Given the description of an element on the screen output the (x, y) to click on. 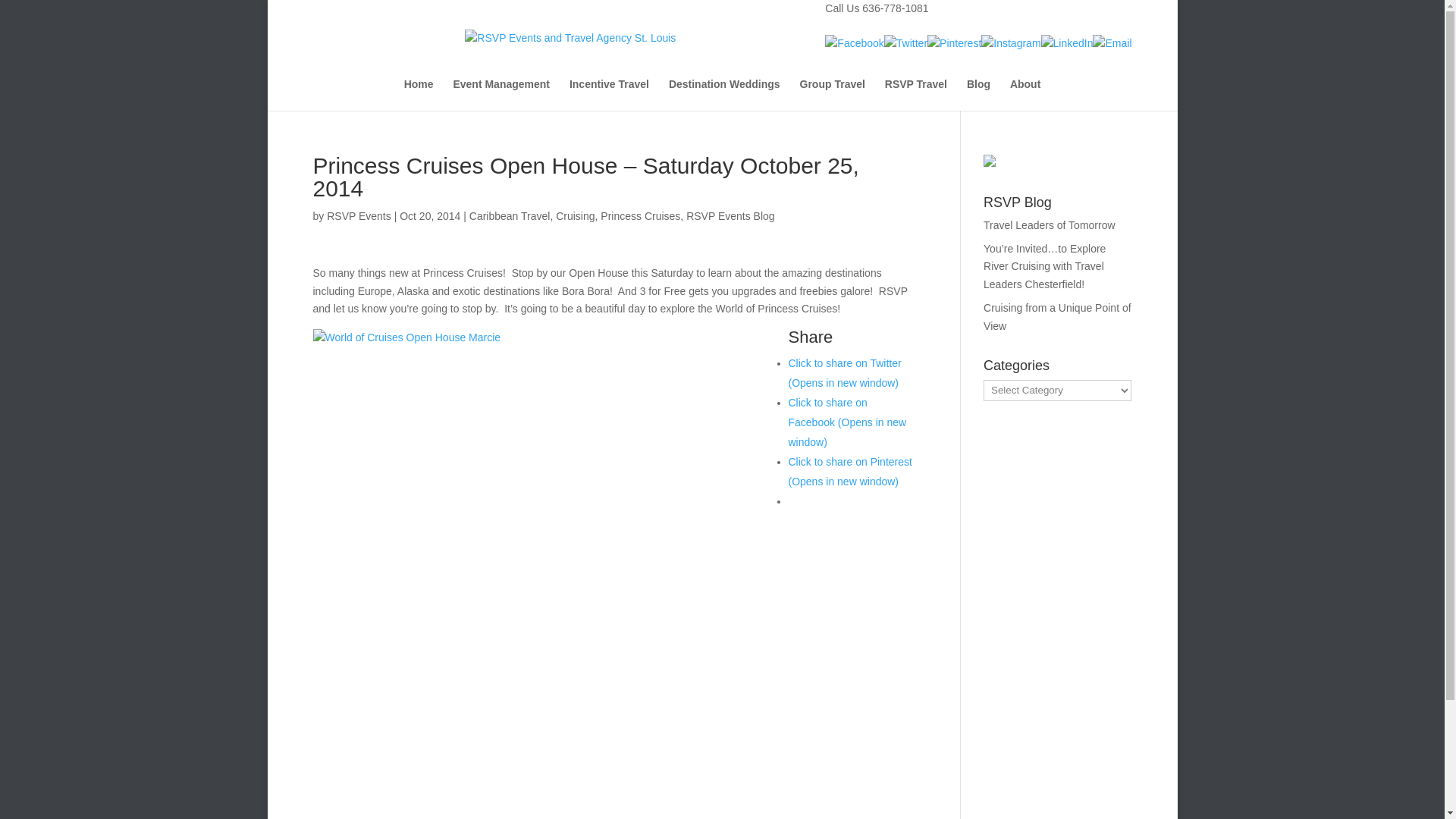
Posts by RSVP Events (358, 215)
Group Travel (831, 94)
RSVP Travel (916, 94)
Destination Weddings (724, 94)
Caribbean Travel (509, 215)
Home (418, 94)
Princess Cruises (639, 215)
Click to share on Twitter (845, 373)
RSVP Events Blog (729, 215)
Click to share on Facebook (848, 421)
